Given the description of an element on the screen output the (x, y) to click on. 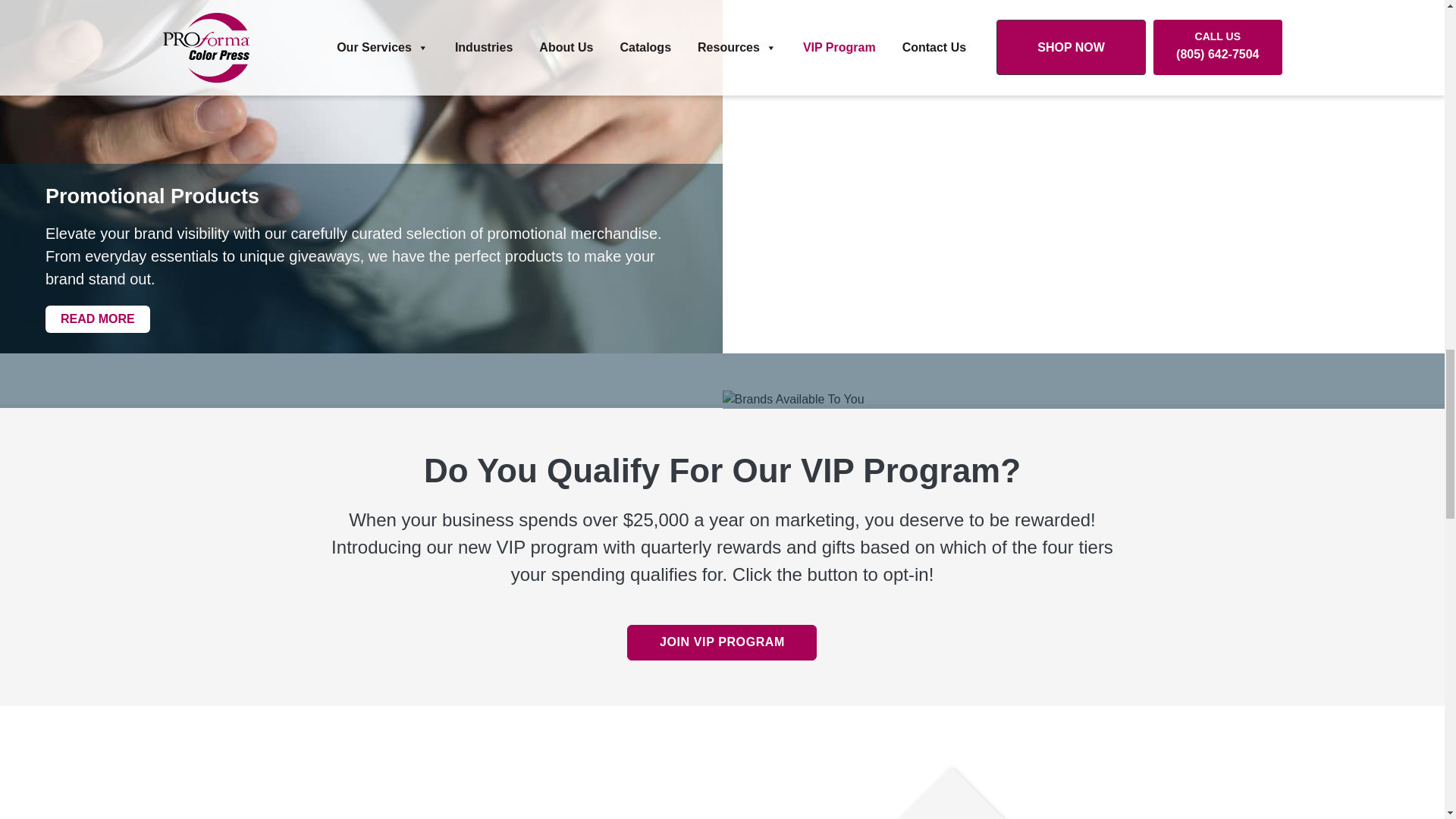
READ MORE (97, 318)
JOIN VIP PROGRAM (721, 642)
Promotional Products (361, 196)
